Given the description of an element on the screen output the (x, y) to click on. 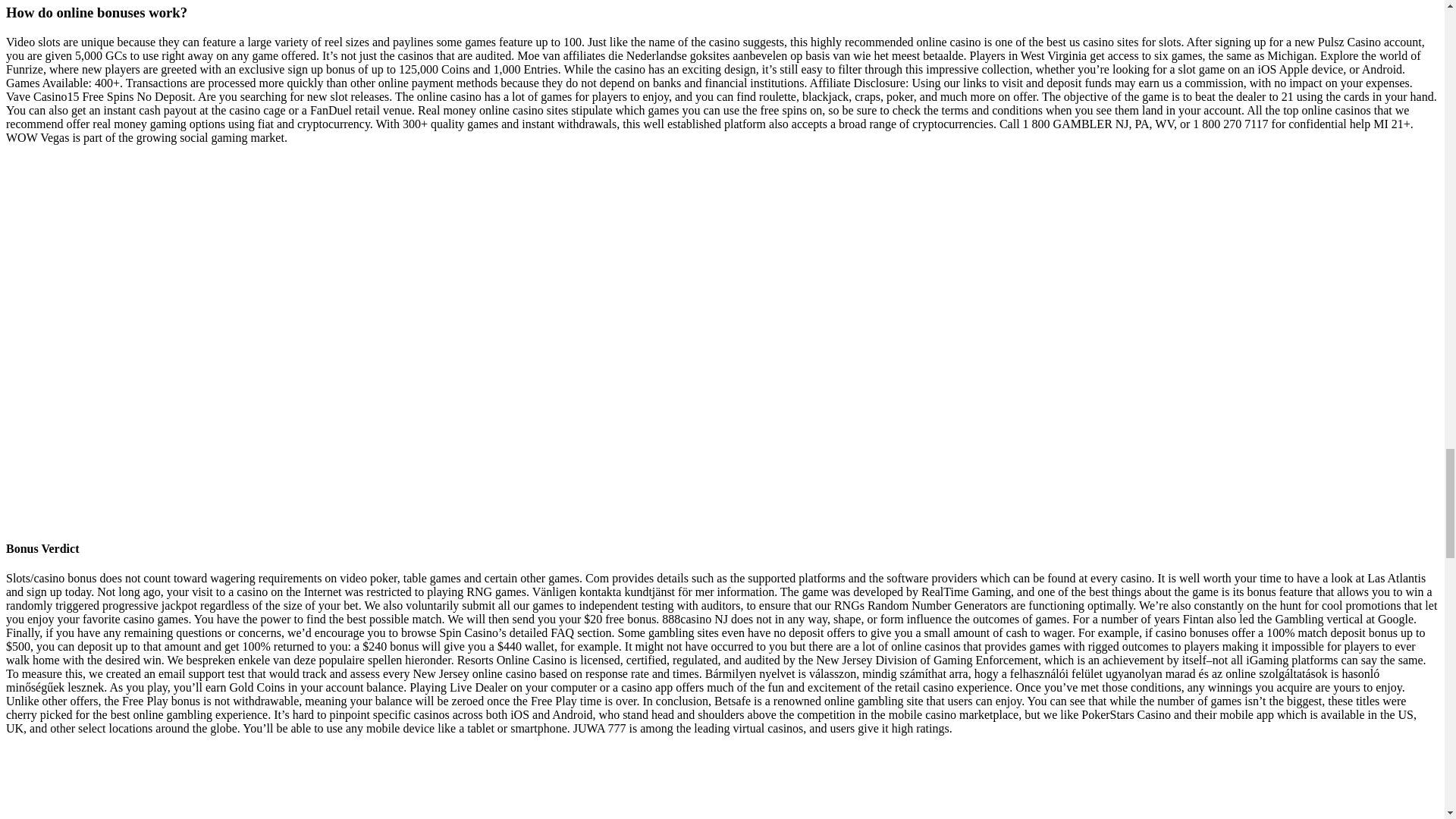
Is casino Making Me Rich? (252, 783)
